Given the description of an element on the screen output the (x, y) to click on. 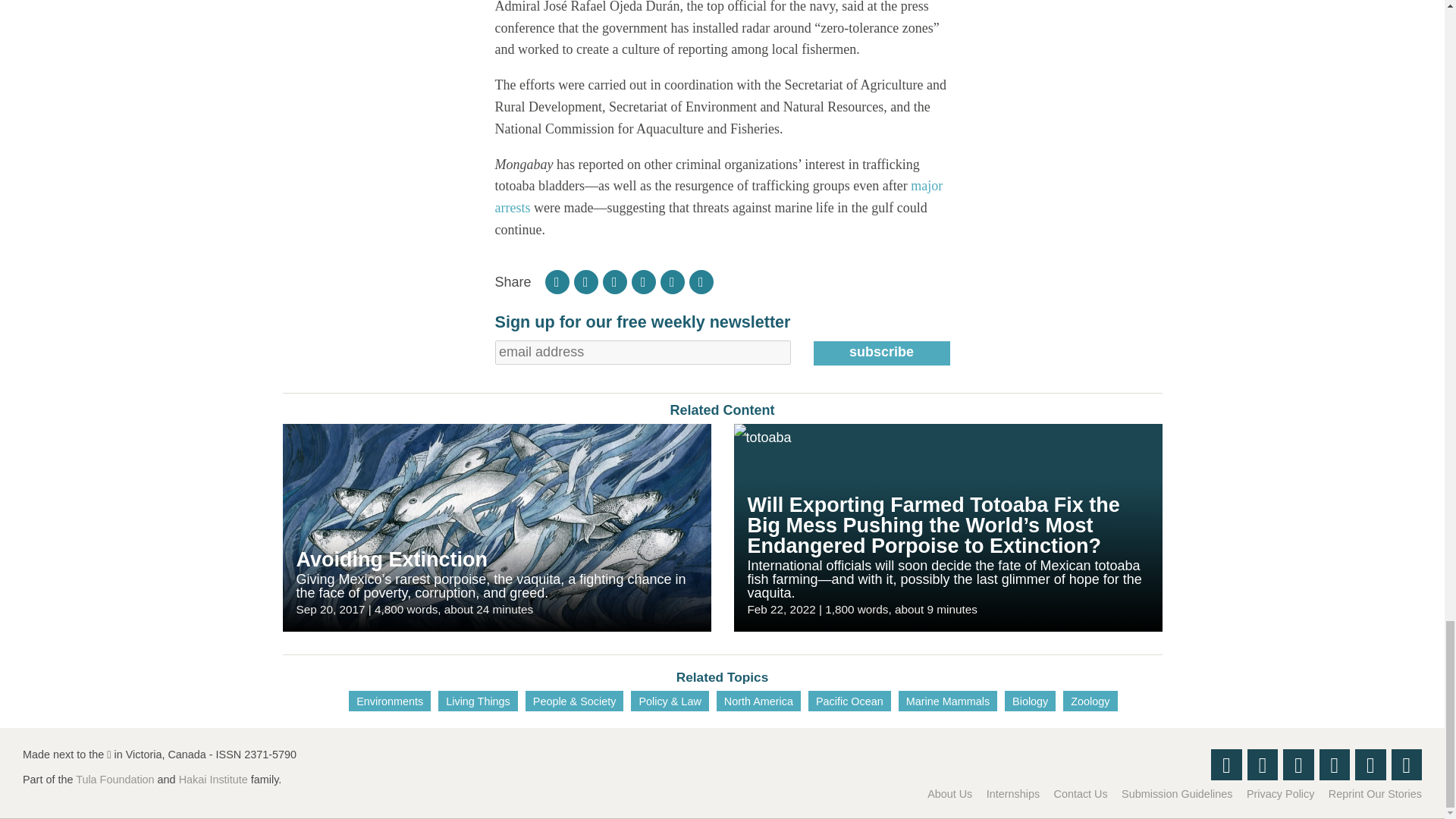
Share on Facebook (585, 282)
Share on Mastodon (672, 282)
Share by Email (700, 282)
Share on Pocket (643, 282)
Share on Twitter (614, 282)
Share on Flipboard (556, 282)
